Given the description of an element on the screen output the (x, y) to click on. 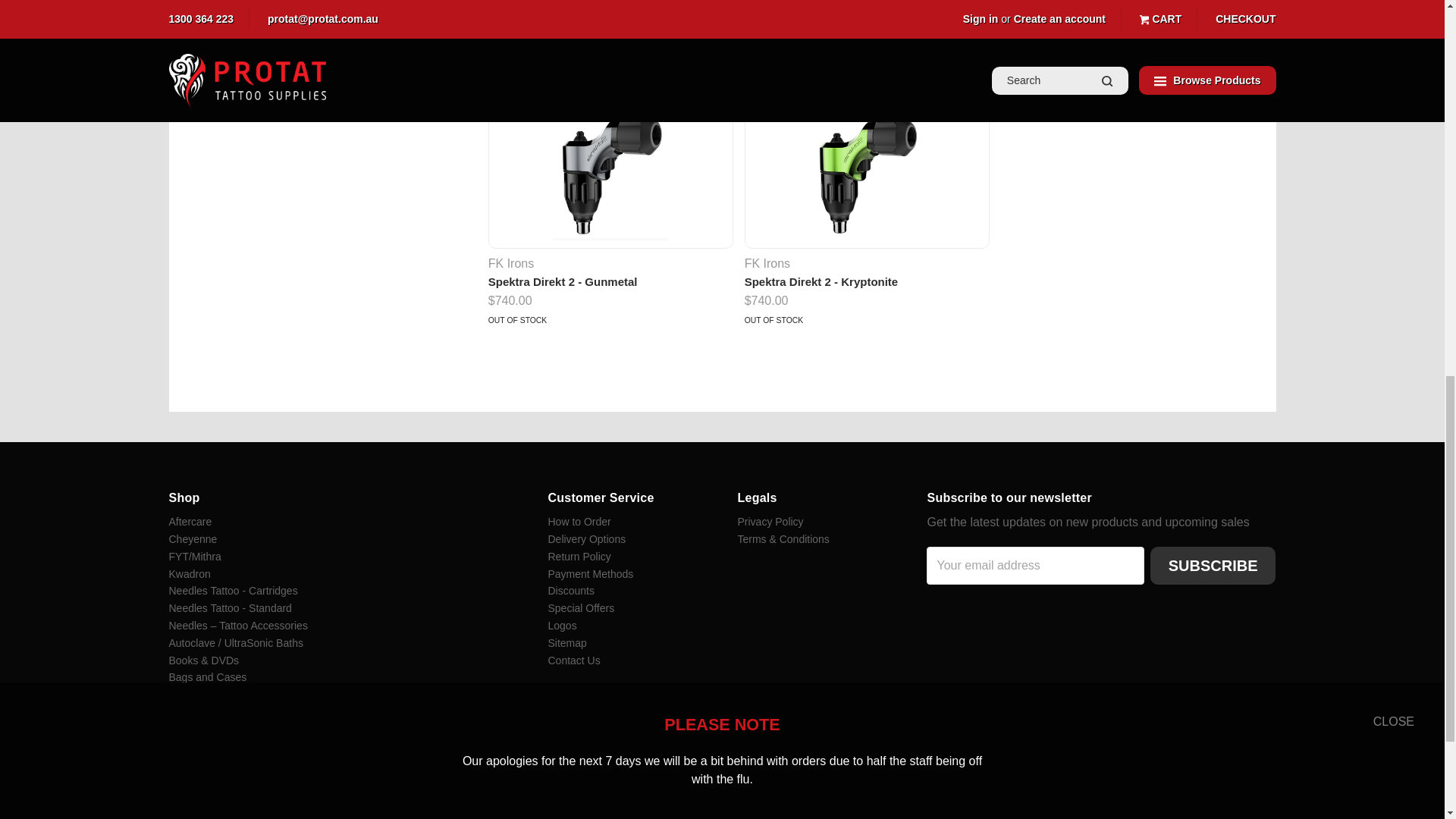
Subscribe (1213, 565)
